Given the description of an element on the screen output the (x, y) to click on. 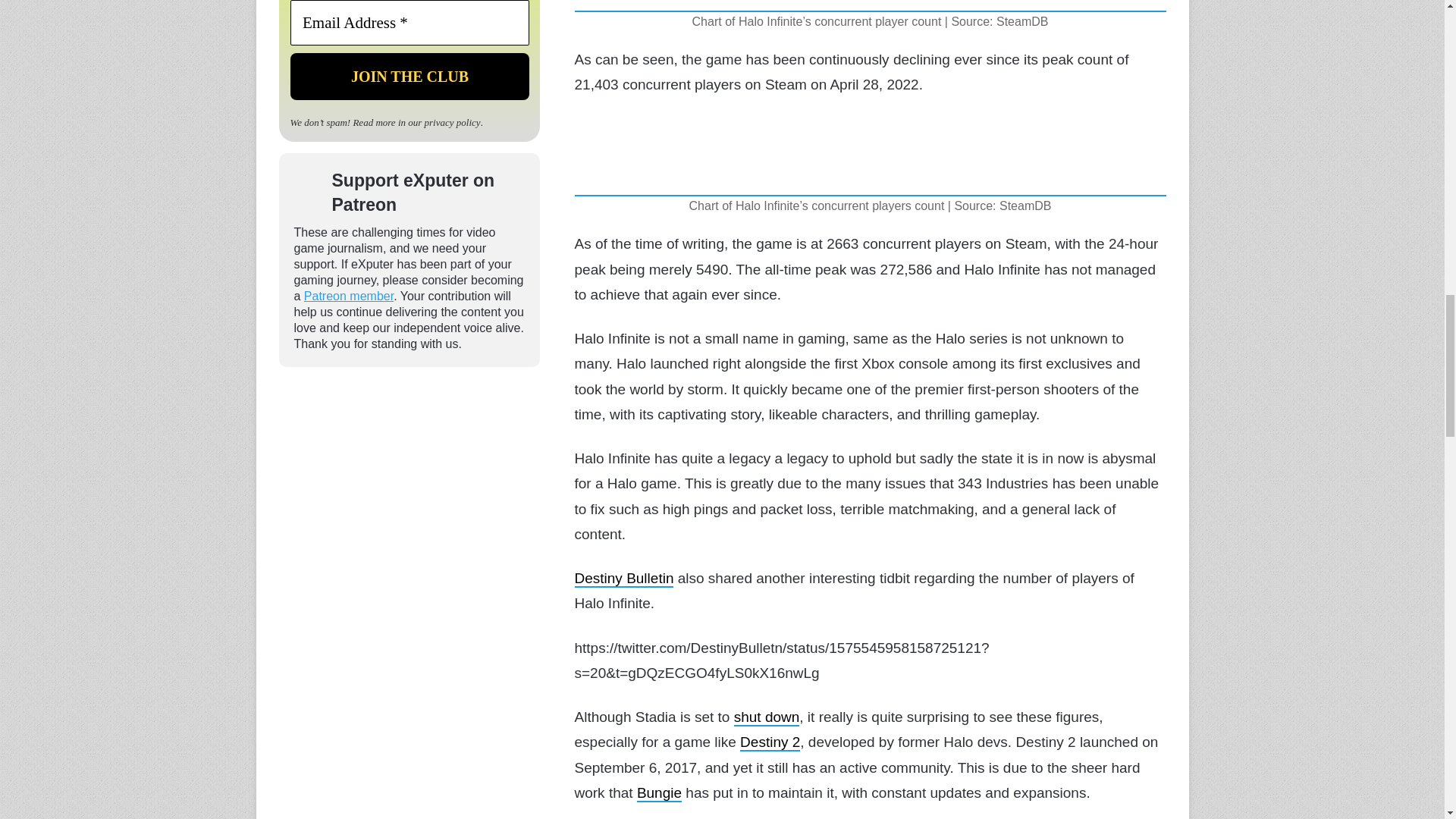
JOIN THE  CLUB (408, 76)
Email Address (408, 22)
